Given the description of an element on the screen output the (x, y) to click on. 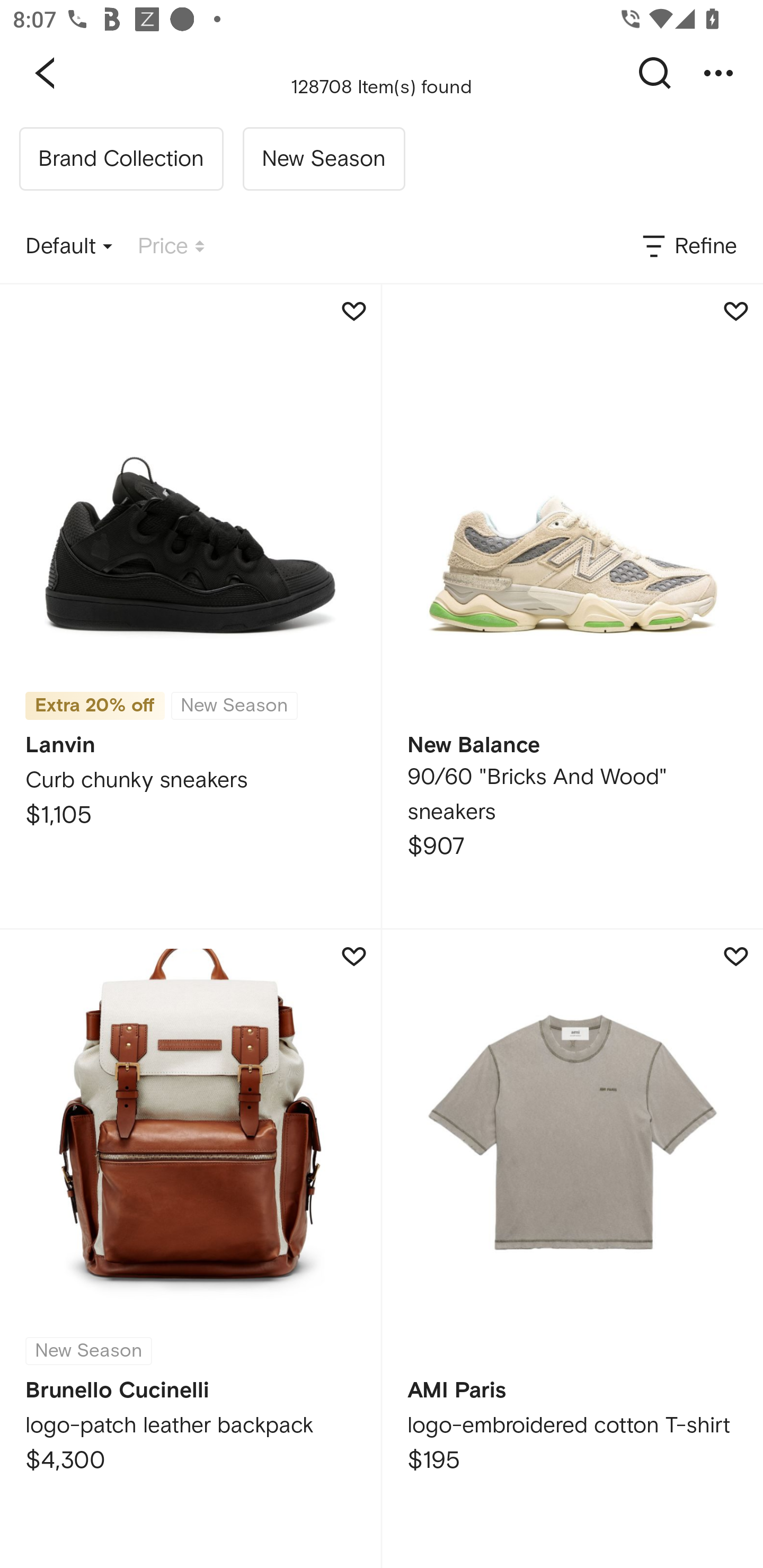
Brand Collection (121, 158)
New Season (323, 158)
Default (68, 246)
Price (171, 246)
Refine (688, 246)
New Balance 90/60 "Bricks And Wood" sneakers $907 (572, 605)
Extra 20% off (94, 705)
AMI Paris logo-embroidered cotton T-shirt  $195 (572, 1248)
